Given the description of an element on the screen output the (x, y) to click on. 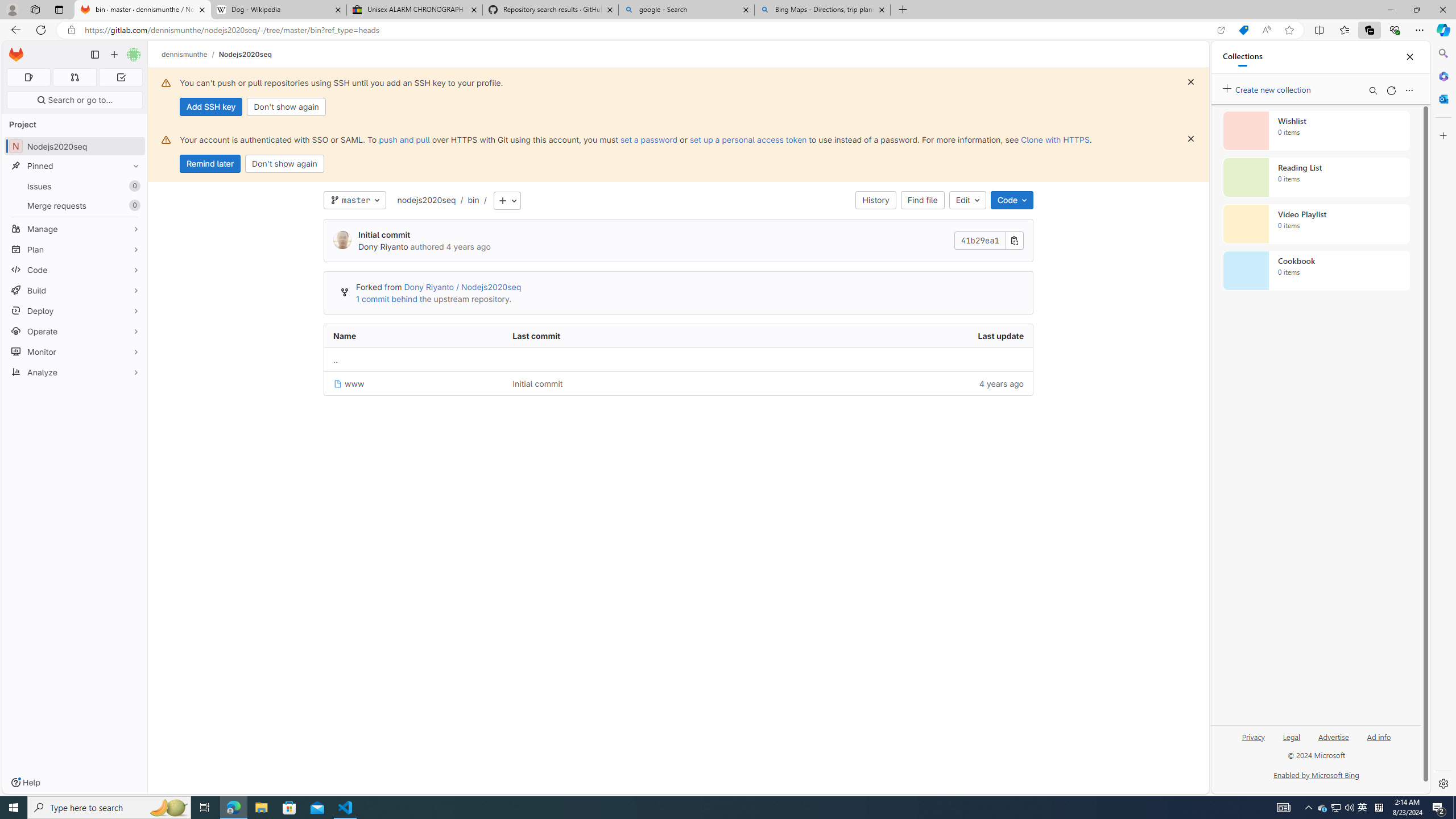
Unpin Merge requests (132, 205)
Add SSH key (211, 106)
Initial commit (627, 383)
Nodejs2020seq (245, 53)
Issues0 (74, 185)
1 commit behind (386, 299)
Analyze (74, 371)
Nodejs2020seq (245, 53)
Operate (74, 330)
Dismiss (1190, 138)
